Given the description of an element on the screen output the (x, y) to click on. 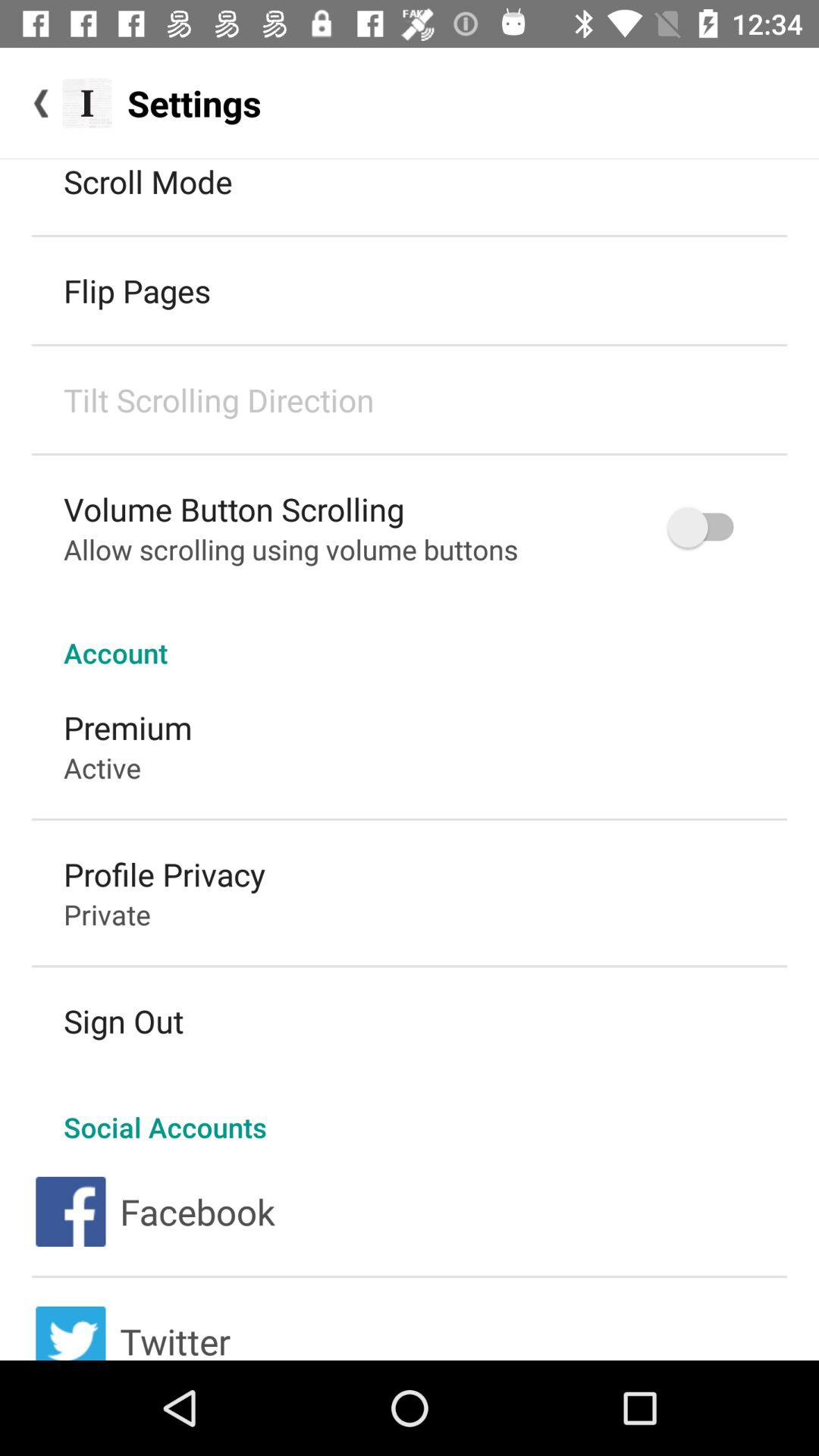
choose icon below allow scrolling using item (409, 636)
